Given the description of an element on the screen output the (x, y) to click on. 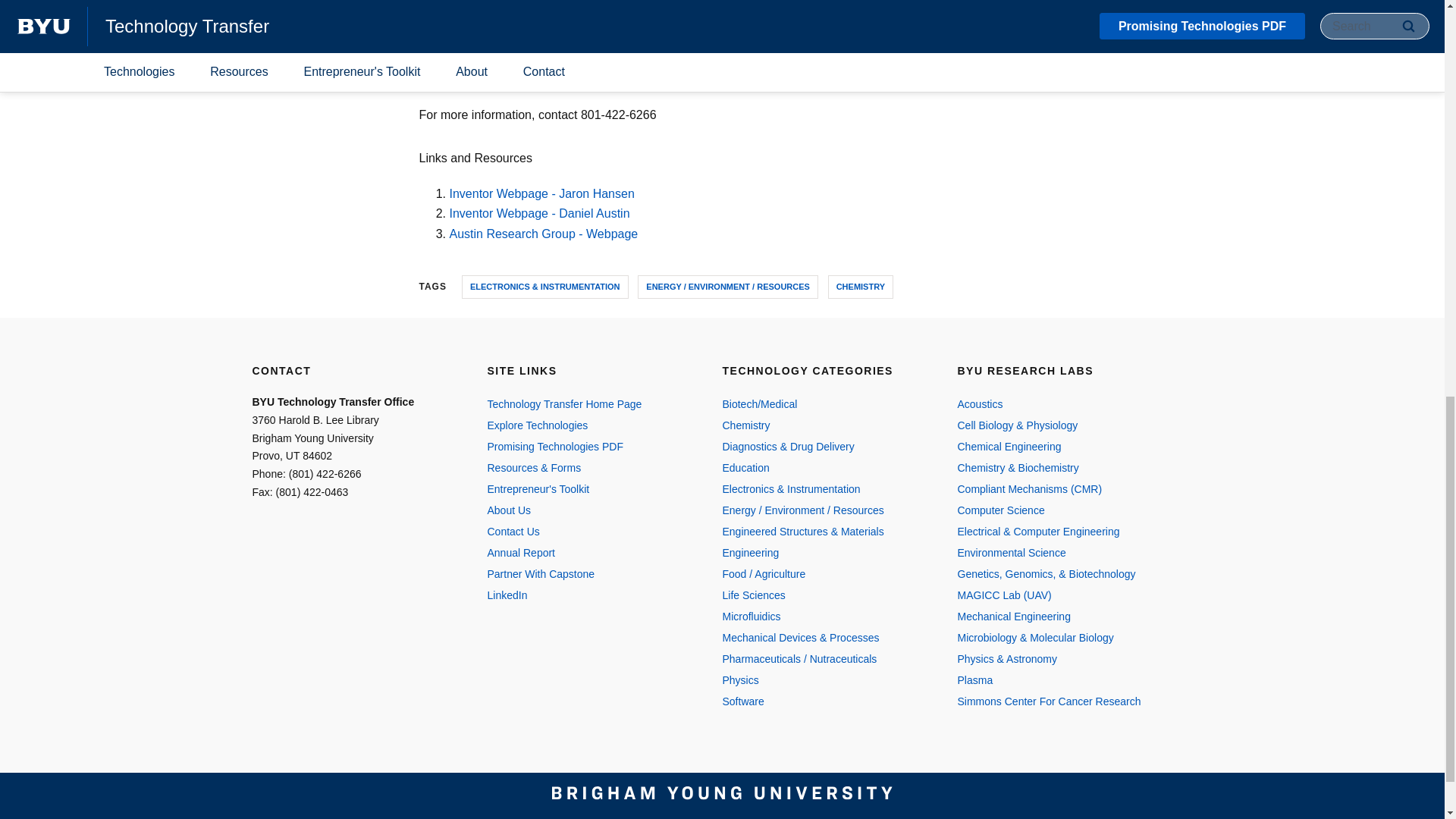
Promising Technologies PDF (588, 446)
Austin Research Group - Webpage (542, 233)
Inventor Webpage - Daniel Austin (538, 213)
Technology Transfer Home Page (588, 403)
LinkedIn (588, 595)
Explore Technologies (588, 424)
Annual Report (588, 552)
Education (824, 467)
Chemistry (824, 424)
Inventor Webpage - Jaron Hansen (540, 193)
